Given the description of an element on the screen output the (x, y) to click on. 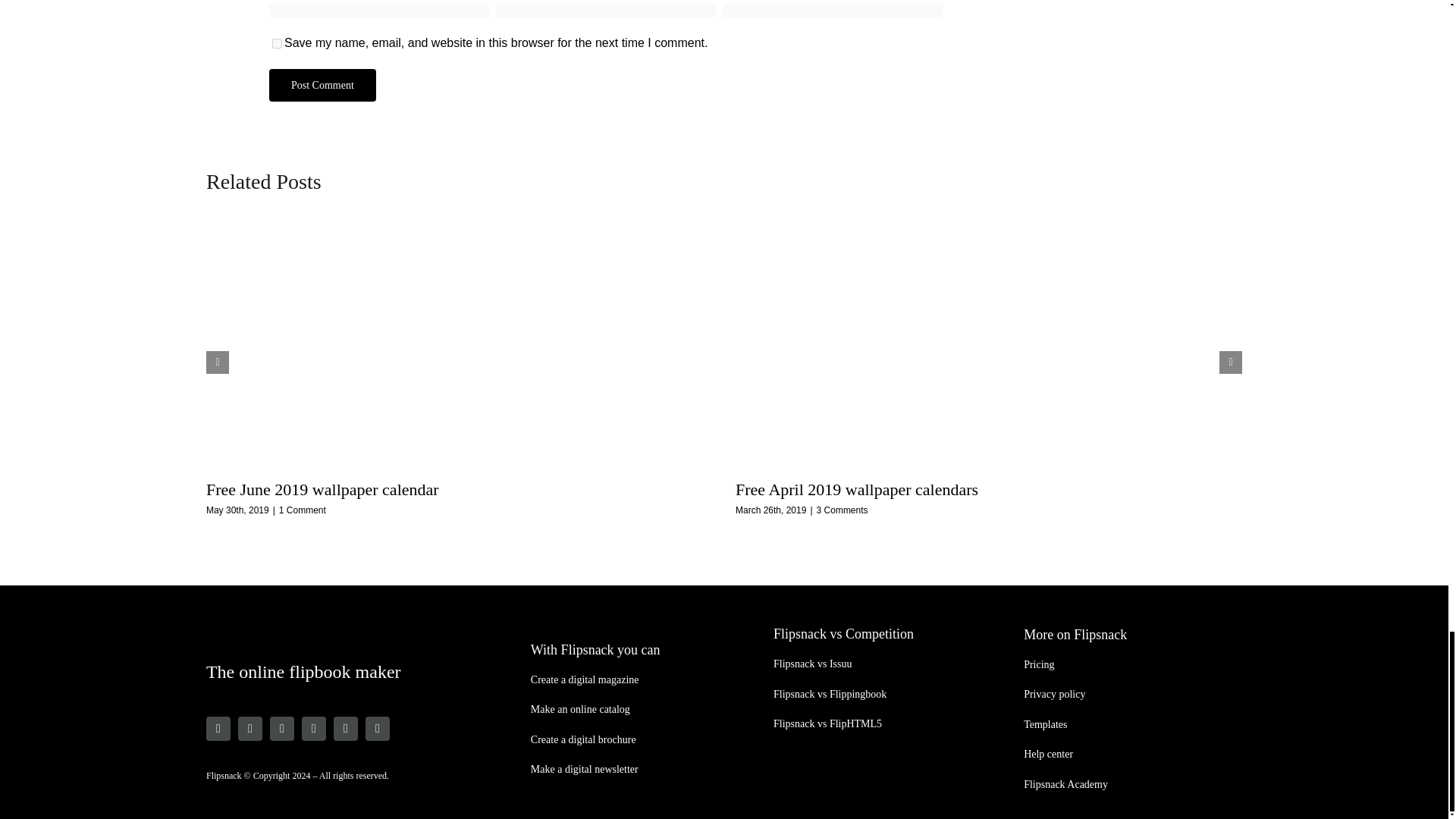
YouTube (345, 728)
Pinterest (313, 728)
Instagram (218, 728)
yes (277, 43)
X (281, 728)
Post Comment (322, 84)
Free April 2019 wallpaper calendars (856, 488)
Facebook (250, 728)
Free June 2019 wallpaper calendar (322, 488)
